Given the description of an element on the screen output the (x, y) to click on. 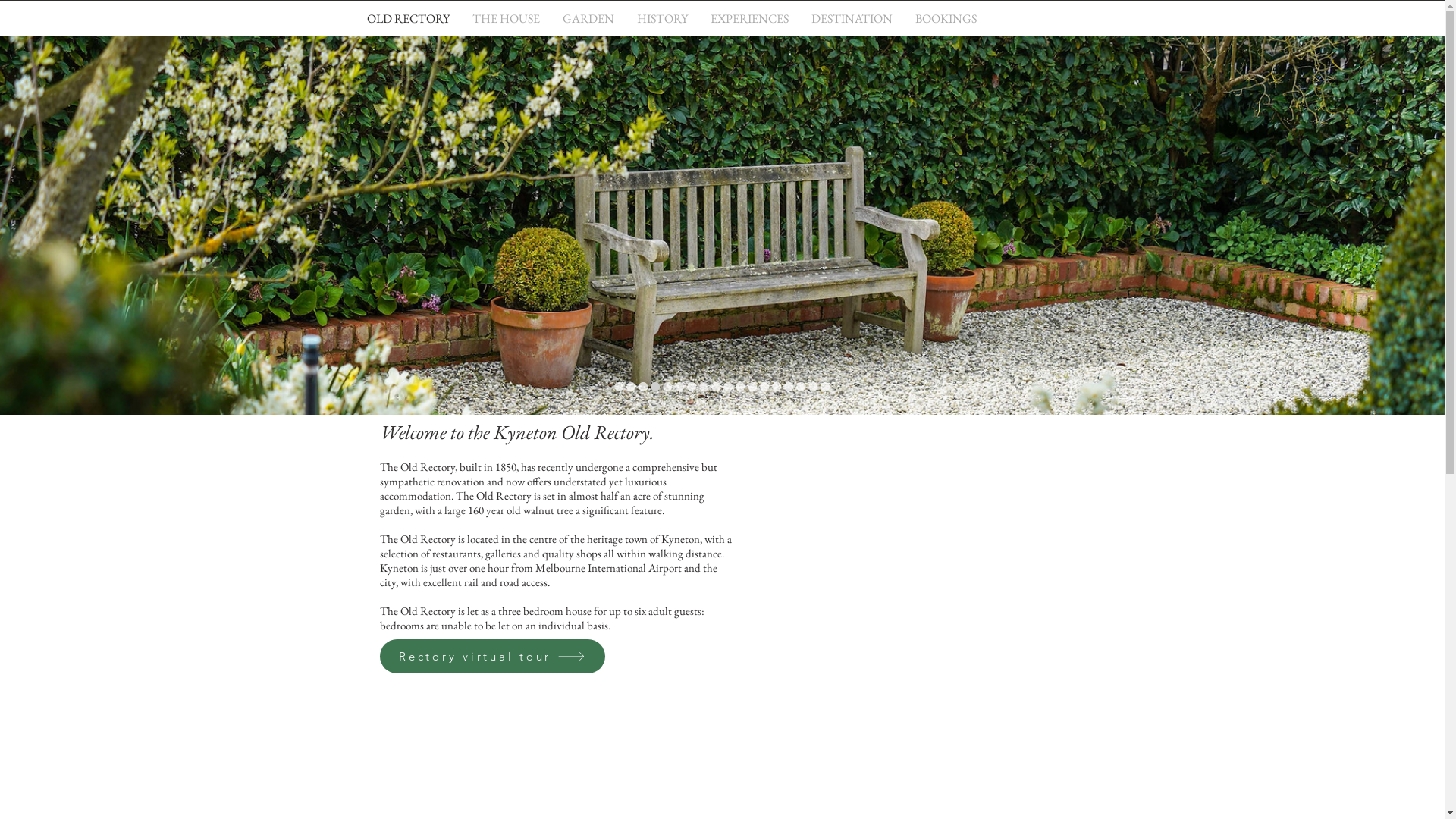
EXPERIENCES Element type: text (749, 18)
Rectory virtual tour Element type: text (491, 656)
HISTORY Element type: text (661, 18)
OLD RECTORY Element type: text (407, 18)
THE HOUSE Element type: text (506, 18)
External YouTube Element type: hover (917, 560)
BOOKINGS Element type: text (945, 18)
DESTINATION Element type: text (851, 18)
GARDEN Element type: text (587, 18)
